Given the description of an element on the screen output the (x, y) to click on. 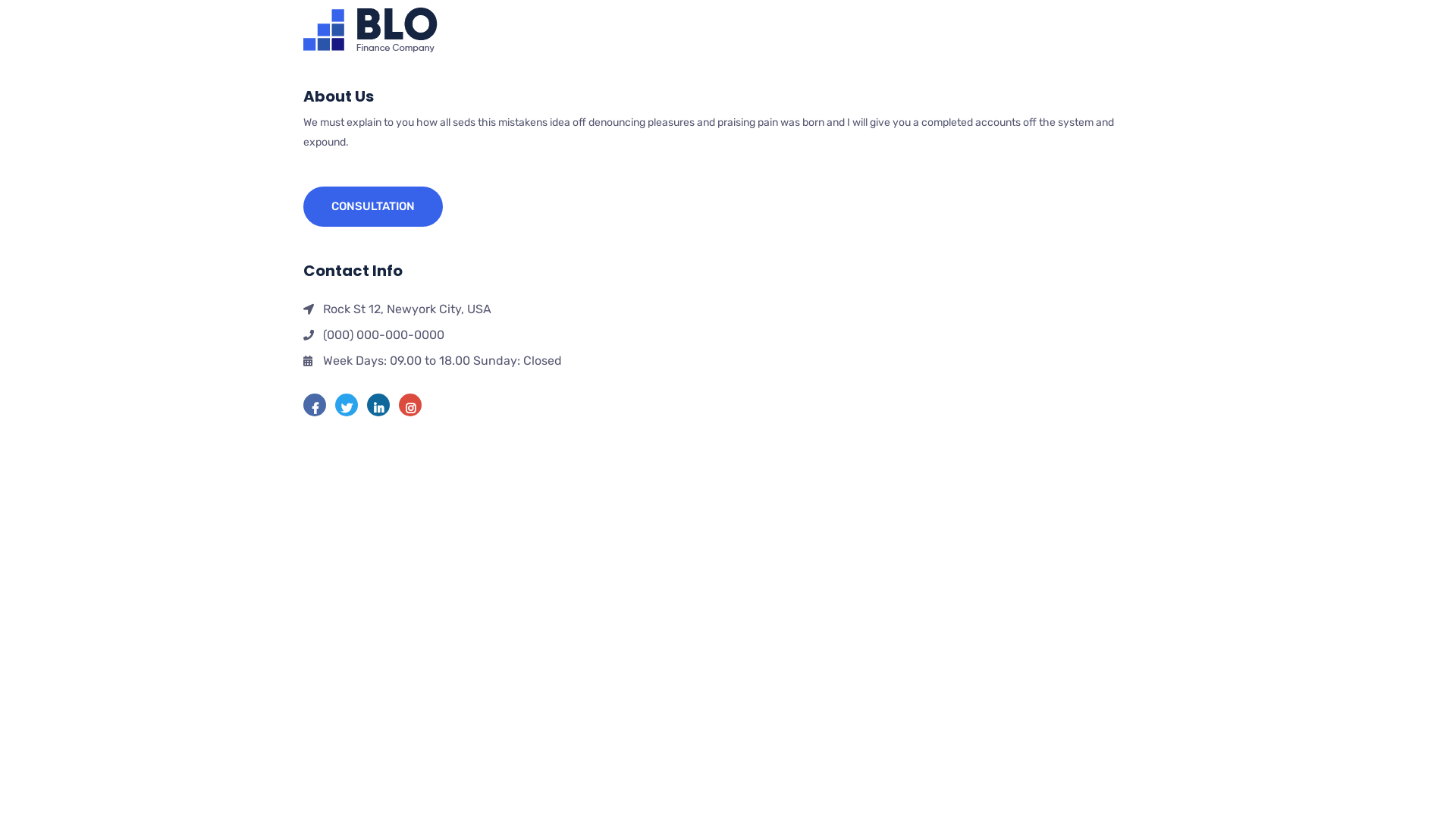
CONSULTATION Element type: text (372, 206)
(000) 000-000-0000 Element type: text (727, 335)
